Given the description of an element on the screen output the (x, y) to click on. 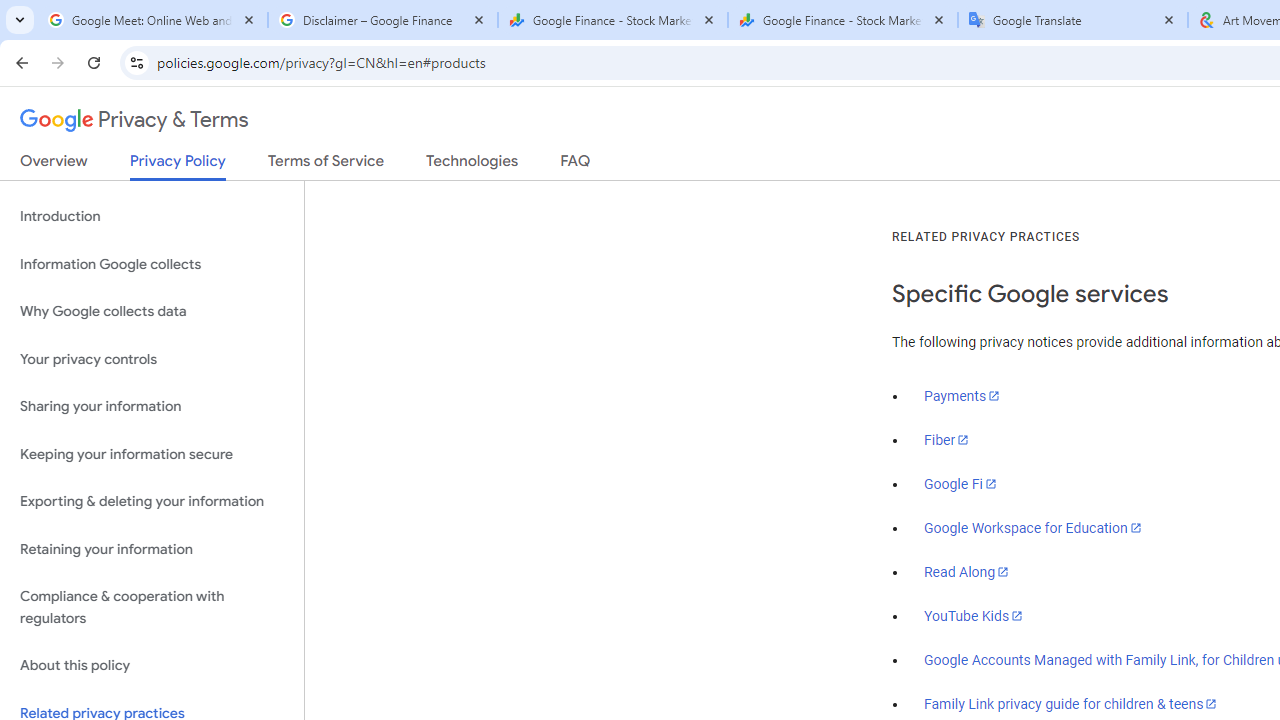
Google Fi (960, 484)
Read Along (966, 572)
Family Link privacy guide for children & teens (1071, 703)
Information Google collects (152, 263)
About this policy (152, 666)
Compliance & cooperation with regulators (152, 607)
Your privacy controls (152, 358)
